Given the description of an element on the screen output the (x, y) to click on. 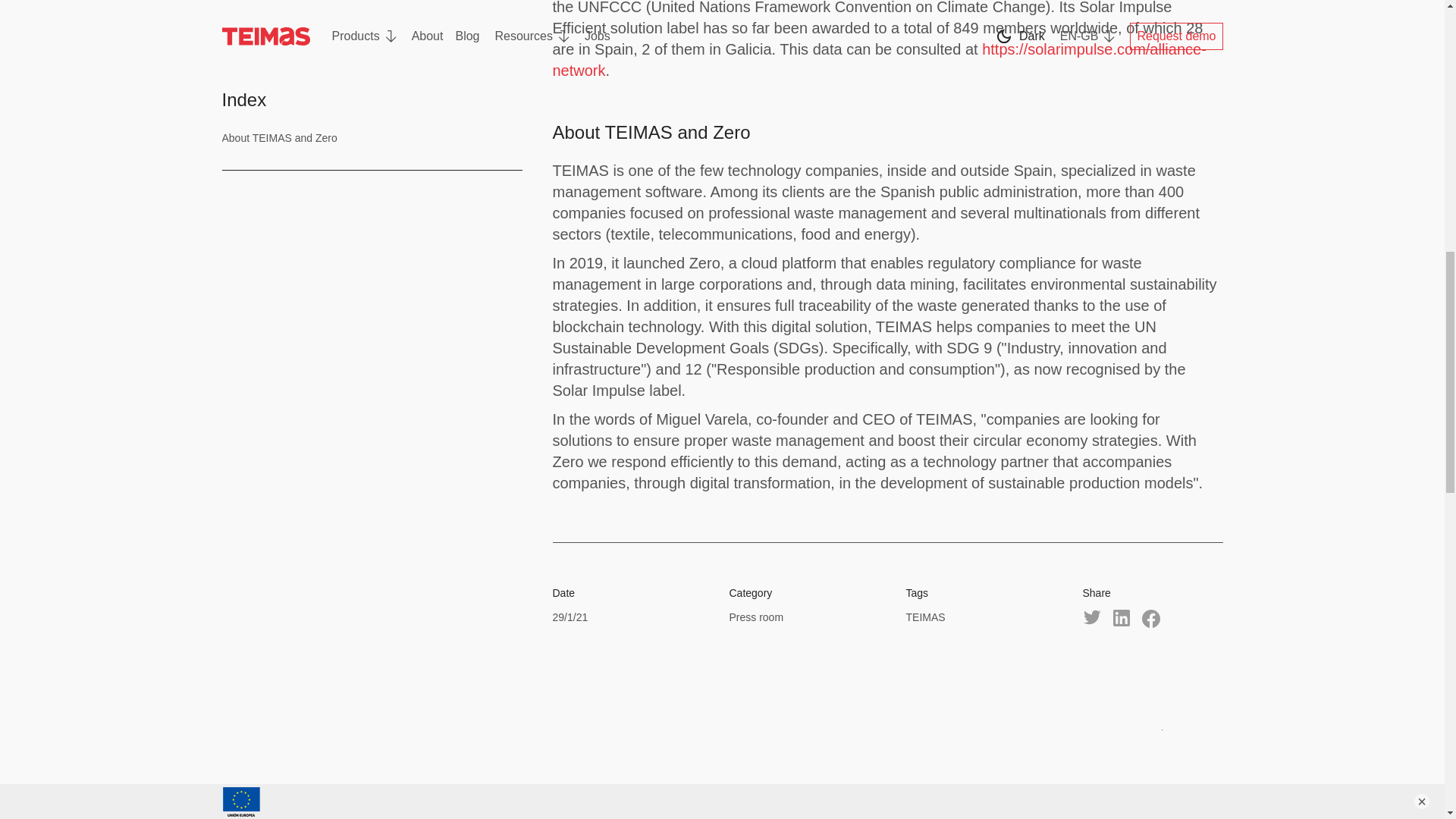
TEIMAS (924, 616)
